Given the description of an element on the screen output the (x, y) to click on. 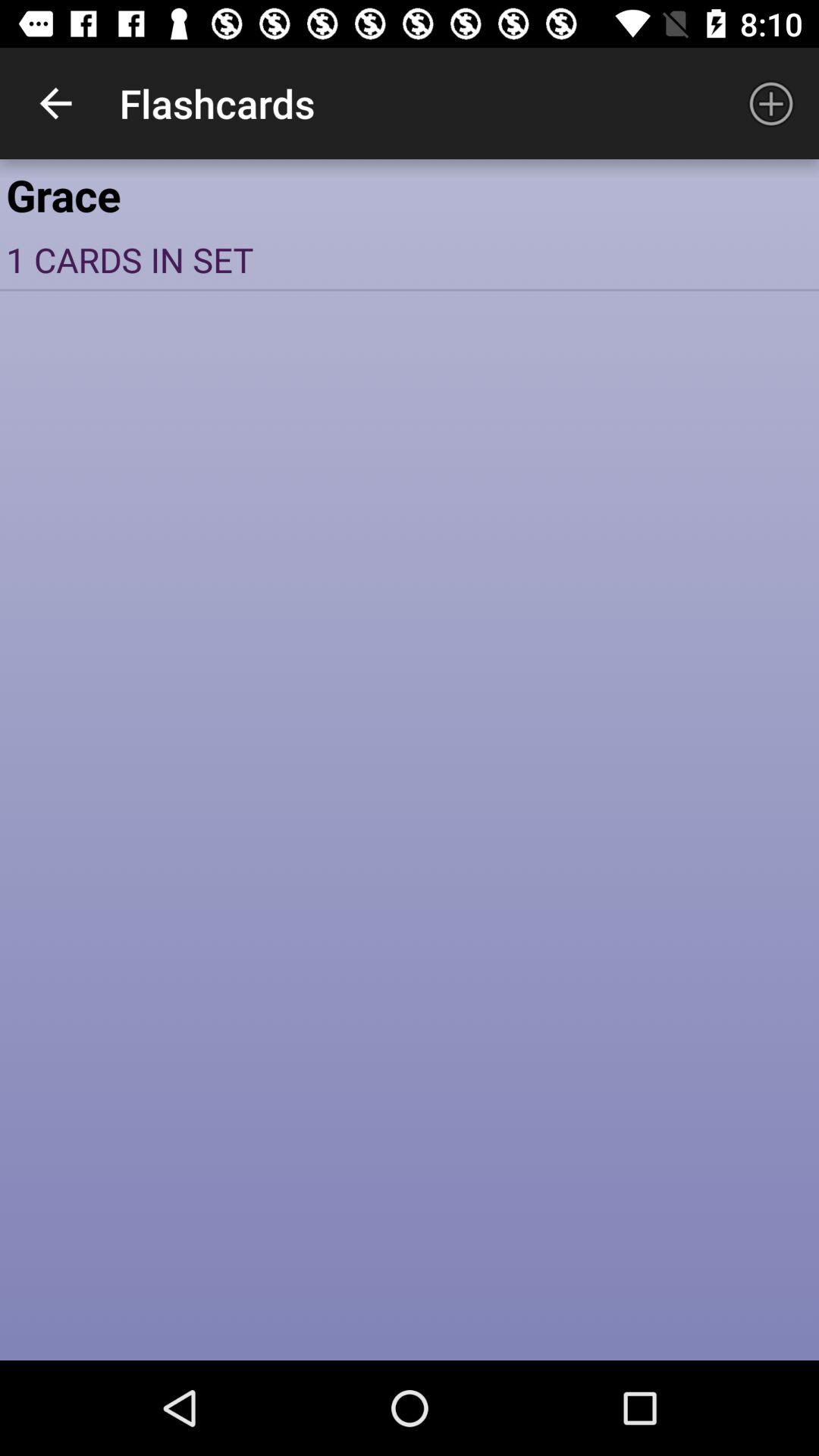
choose item next to the flashcards app (771, 103)
